Given the description of an element on the screen output the (x, y) to click on. 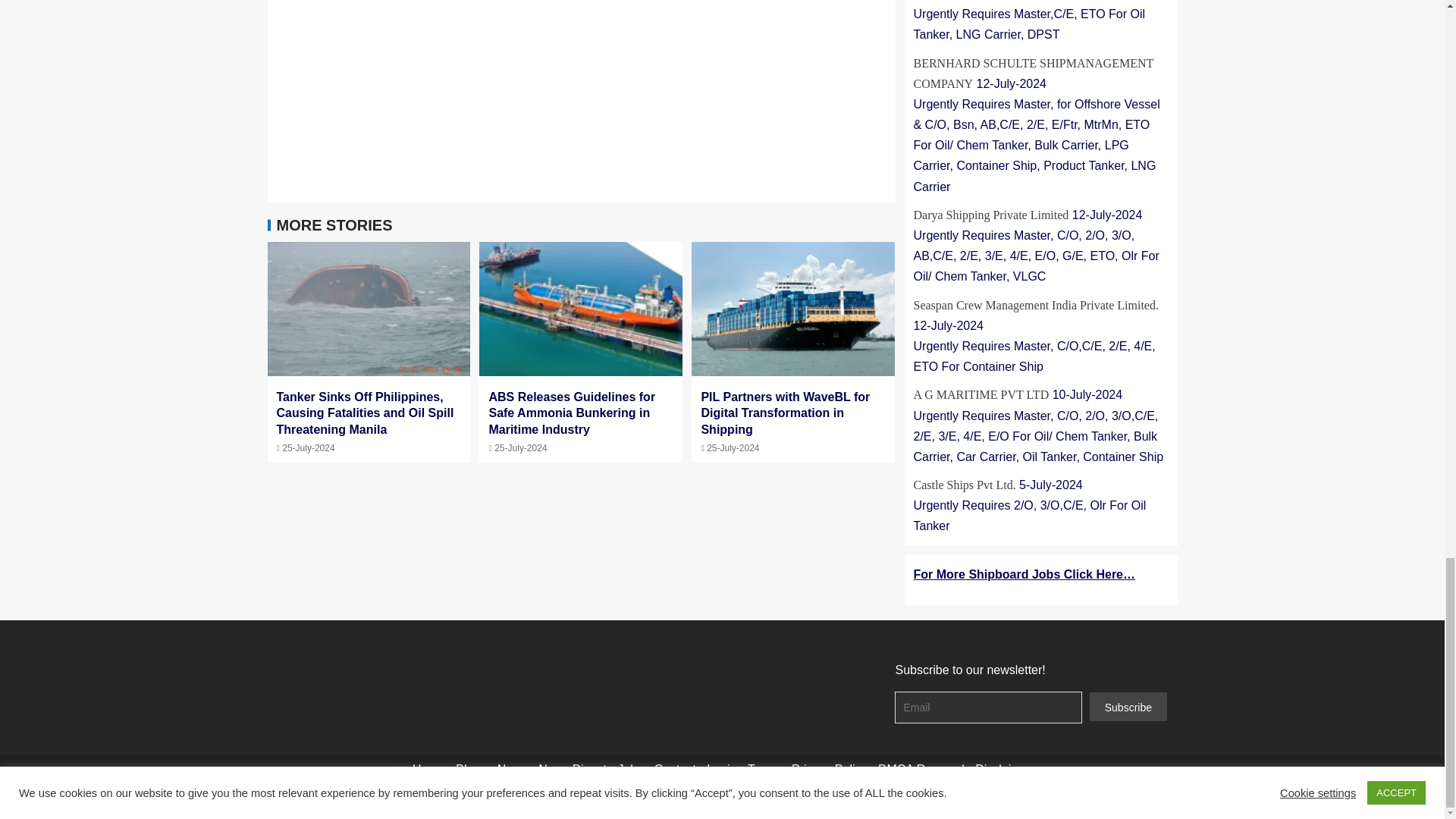
Subscribe (1128, 706)
